Given the description of an element on the screen output the (x, y) to click on. 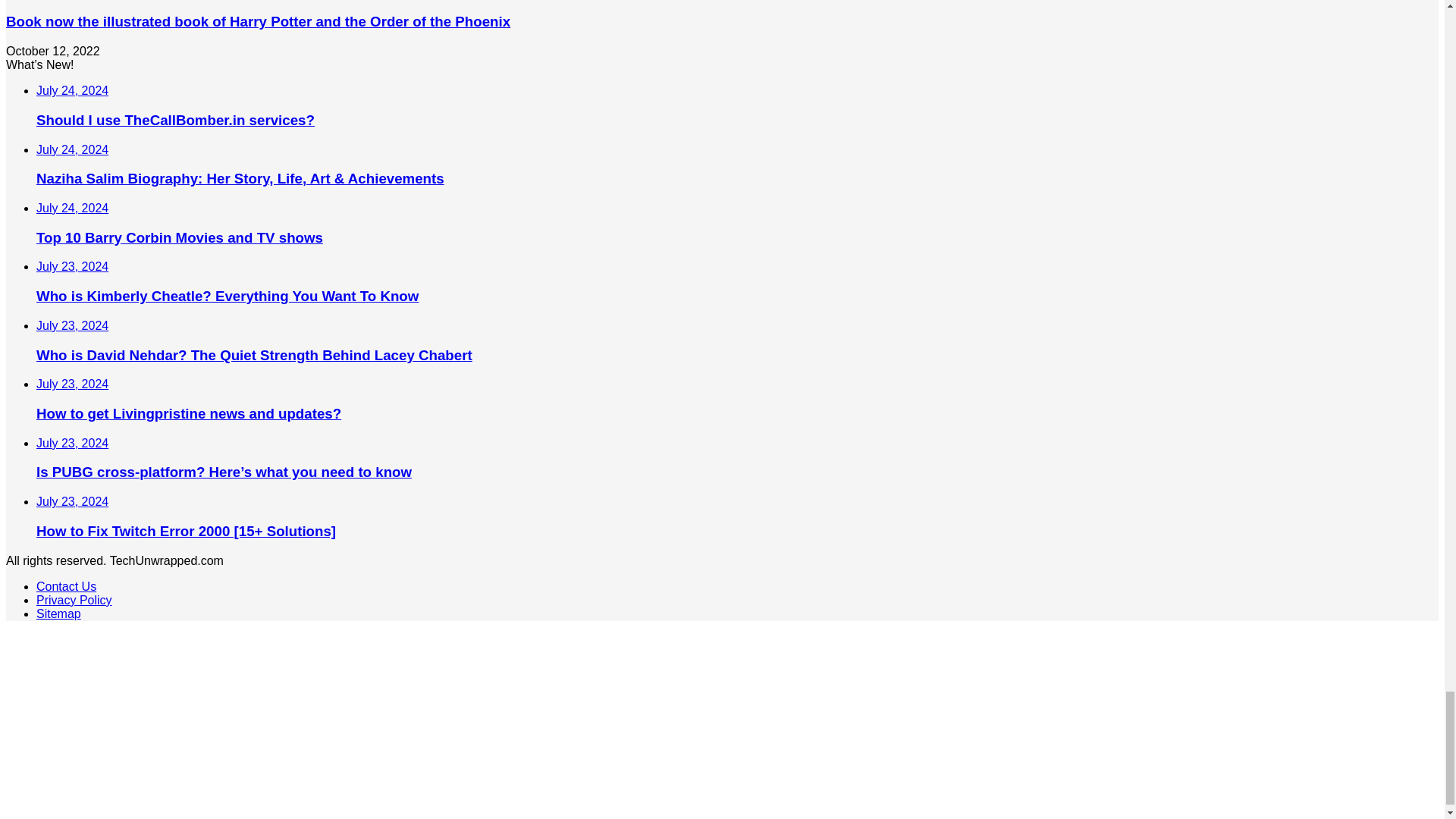
Privacy Policy (74, 599)
Contact Us (66, 585)
Sitemap (58, 613)
